Given the description of an element on the screen output the (x, y) to click on. 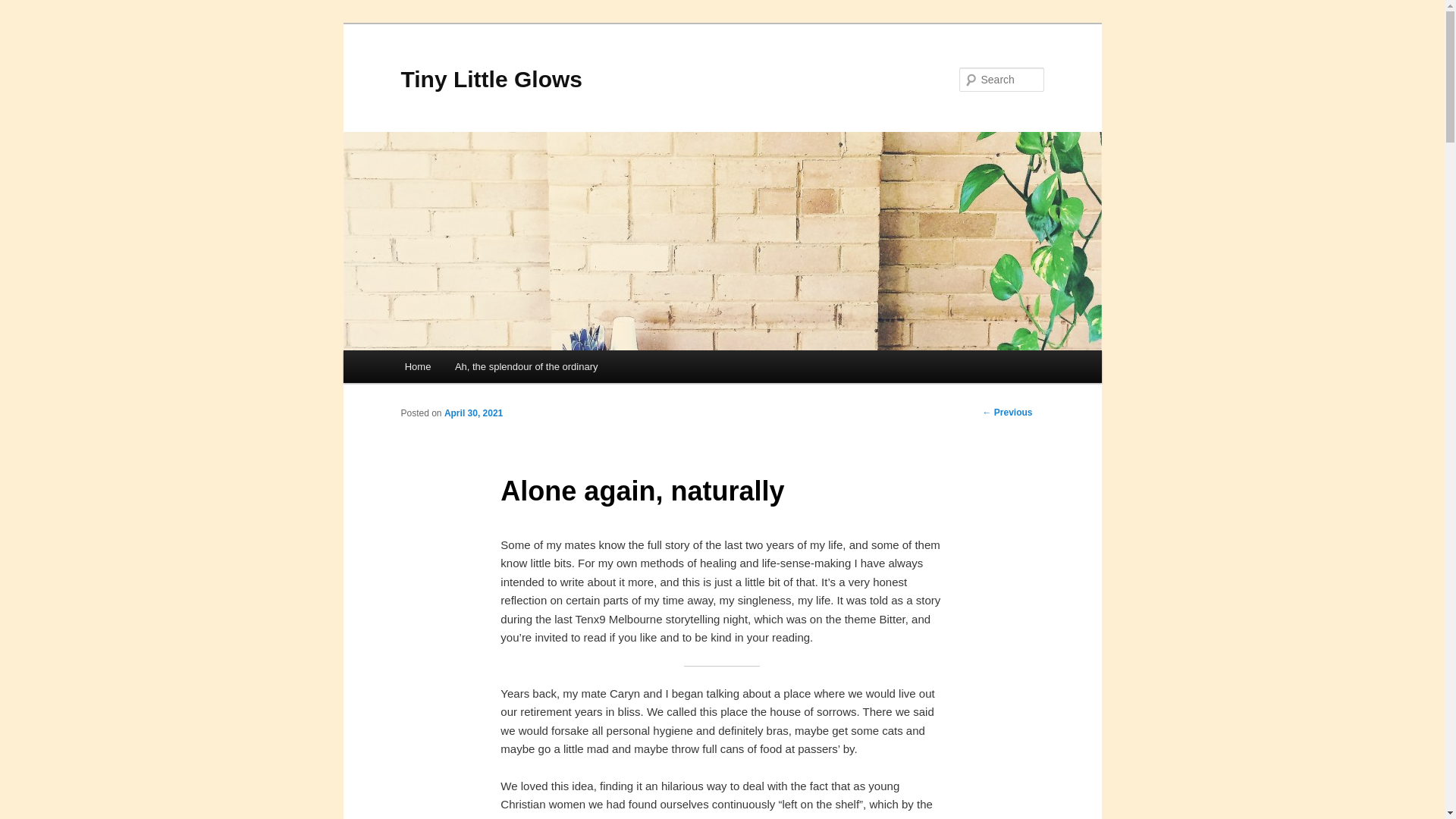
April 30, 2021 (473, 412)
Tiny Little Glows (490, 78)
Search (24, 8)
12:16 pm (473, 412)
Home (417, 366)
Ah, the splendour of the ordinary (526, 366)
